Given the description of an element on the screen output the (x, y) to click on. 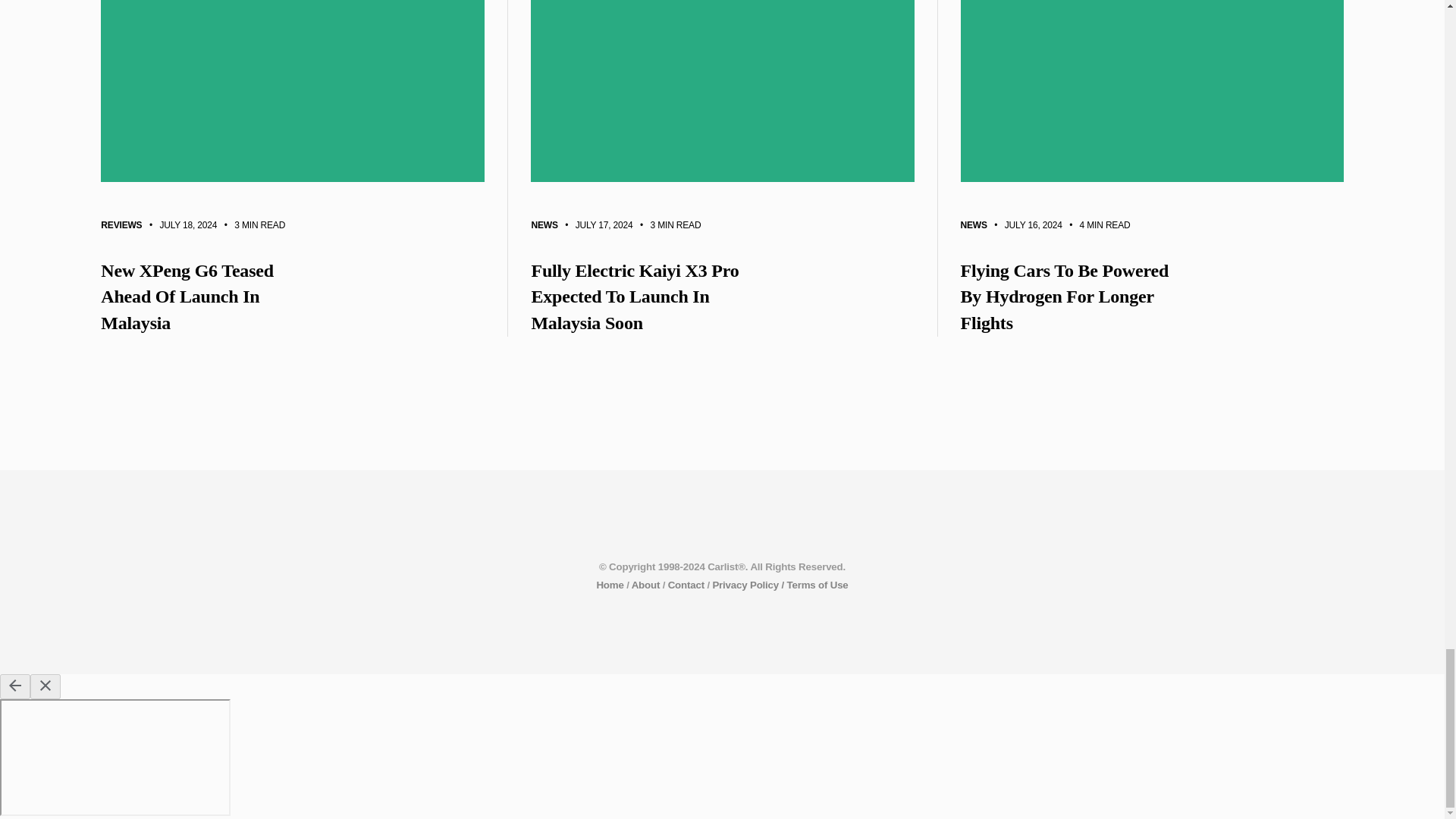
Home (609, 584)
New XPeng G6 Teased Ahead Of Launch In Malaysia (292, 297)
Contact (686, 584)
REVIEWS (120, 226)
NEWS (544, 225)
Terms of Use (817, 584)
Contact CarList (686, 584)
CarList's Terms of Use' (817, 584)
Flying Cars To Be Powered By Hydrogen For Longer Flights (1150, 296)
CarList's Privacy Policy' (748, 584)
About CarList (646, 584)
NEWS (973, 225)
About (646, 584)
CarList (609, 584)
